Given the description of an element on the screen output the (x, y) to click on. 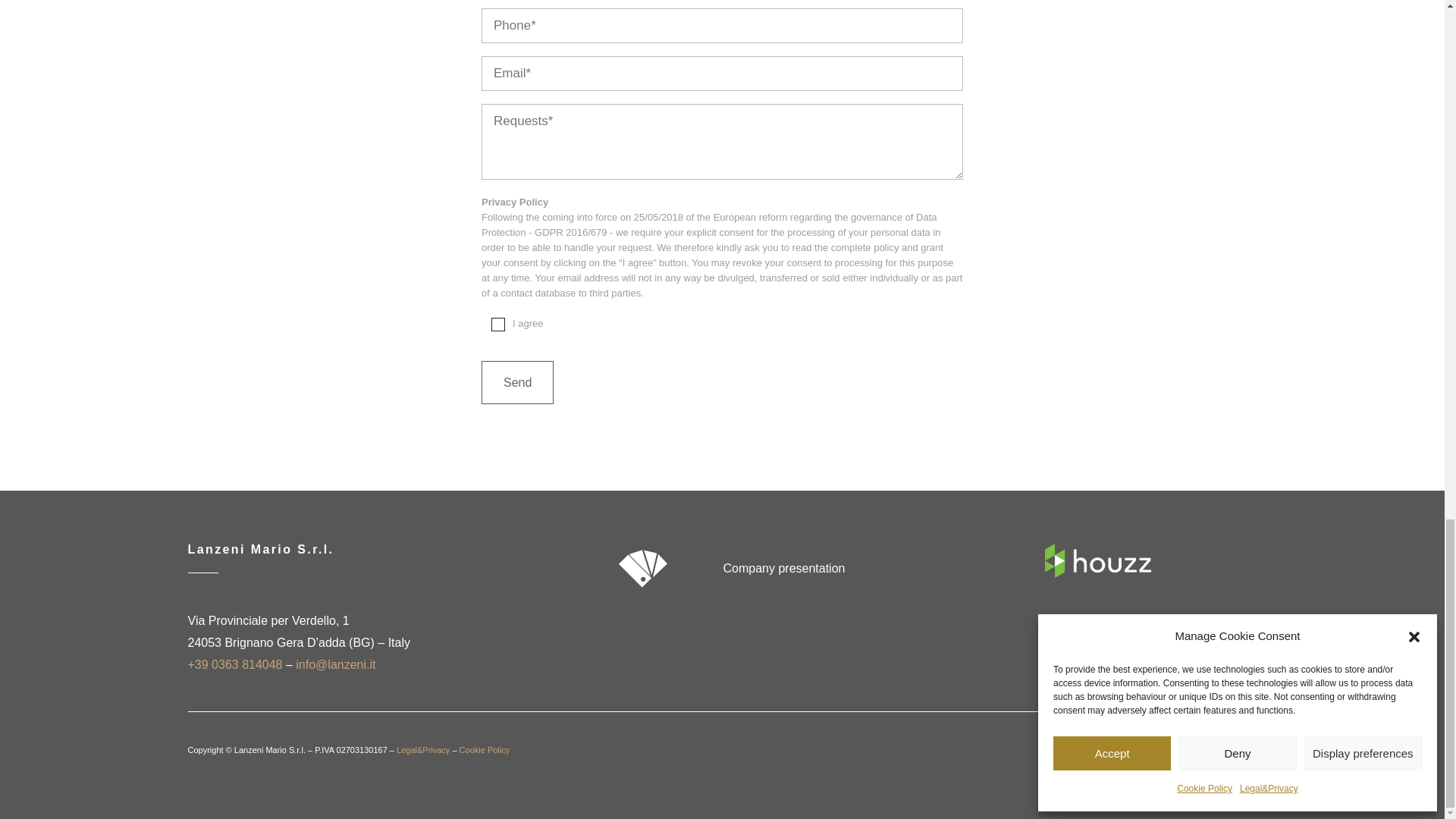
Follow on Instagram (1243, 747)
Follow on Facebook (1213, 747)
